Given the description of an element on the screen output the (x, y) to click on. 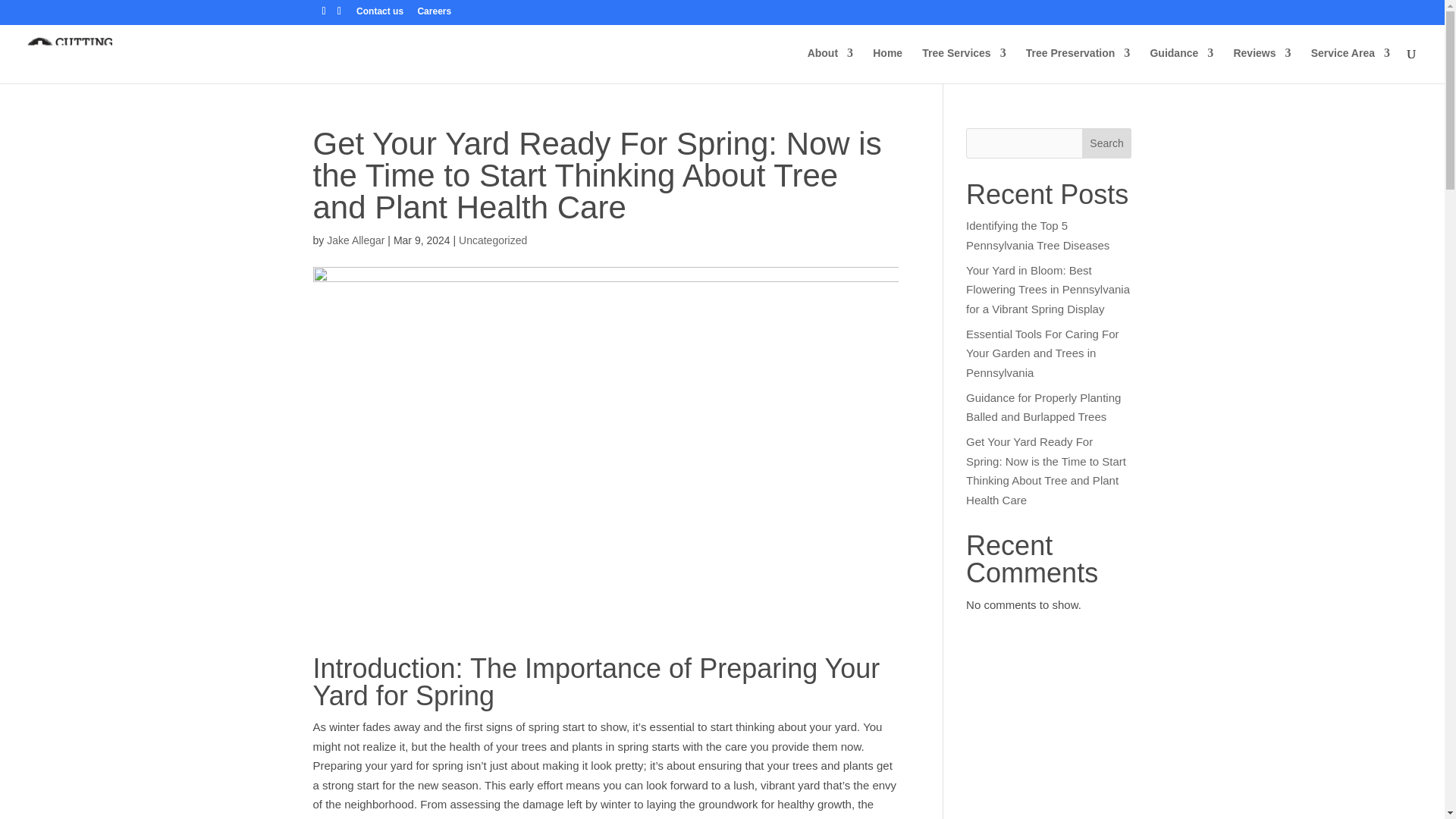
Service Area (1350, 65)
About (830, 65)
Contact us (379, 14)
Posts by Jake Allegar (355, 240)
Uncategorized (492, 240)
Tree Services (963, 65)
Search (1106, 142)
Tree Preservation (1078, 65)
Jake Allegar (355, 240)
Guidance (1181, 65)
